Given the description of an element on the screen output the (x, y) to click on. 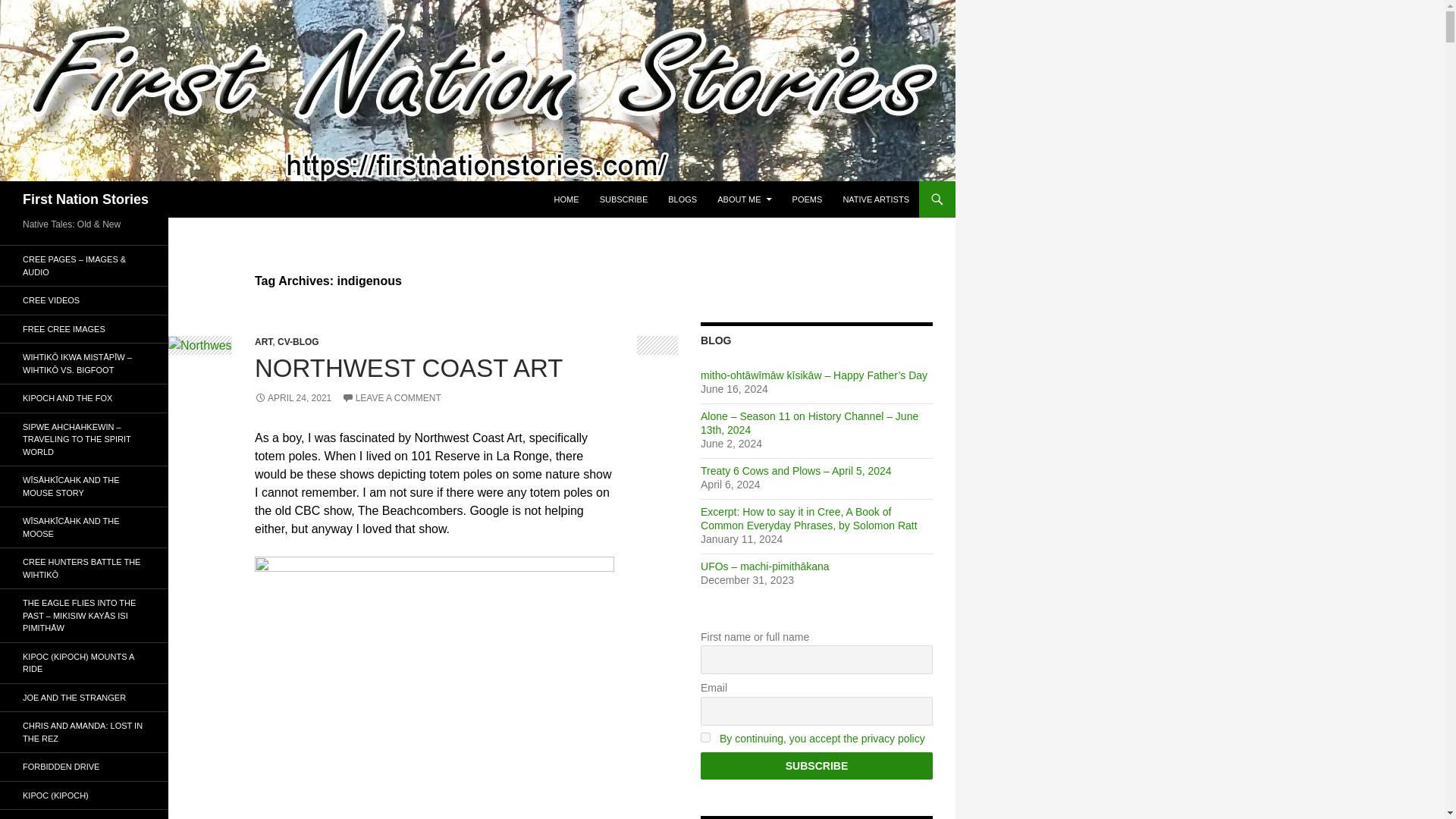
BLOGS (682, 198)
APRIL 24, 2021 (292, 398)
ABOUT ME (743, 198)
POEMS (807, 198)
First Nation Stories (85, 198)
Subscribe (816, 765)
HOME (566, 198)
CV-BLOG (298, 341)
